Given the description of an element on the screen output the (x, y) to click on. 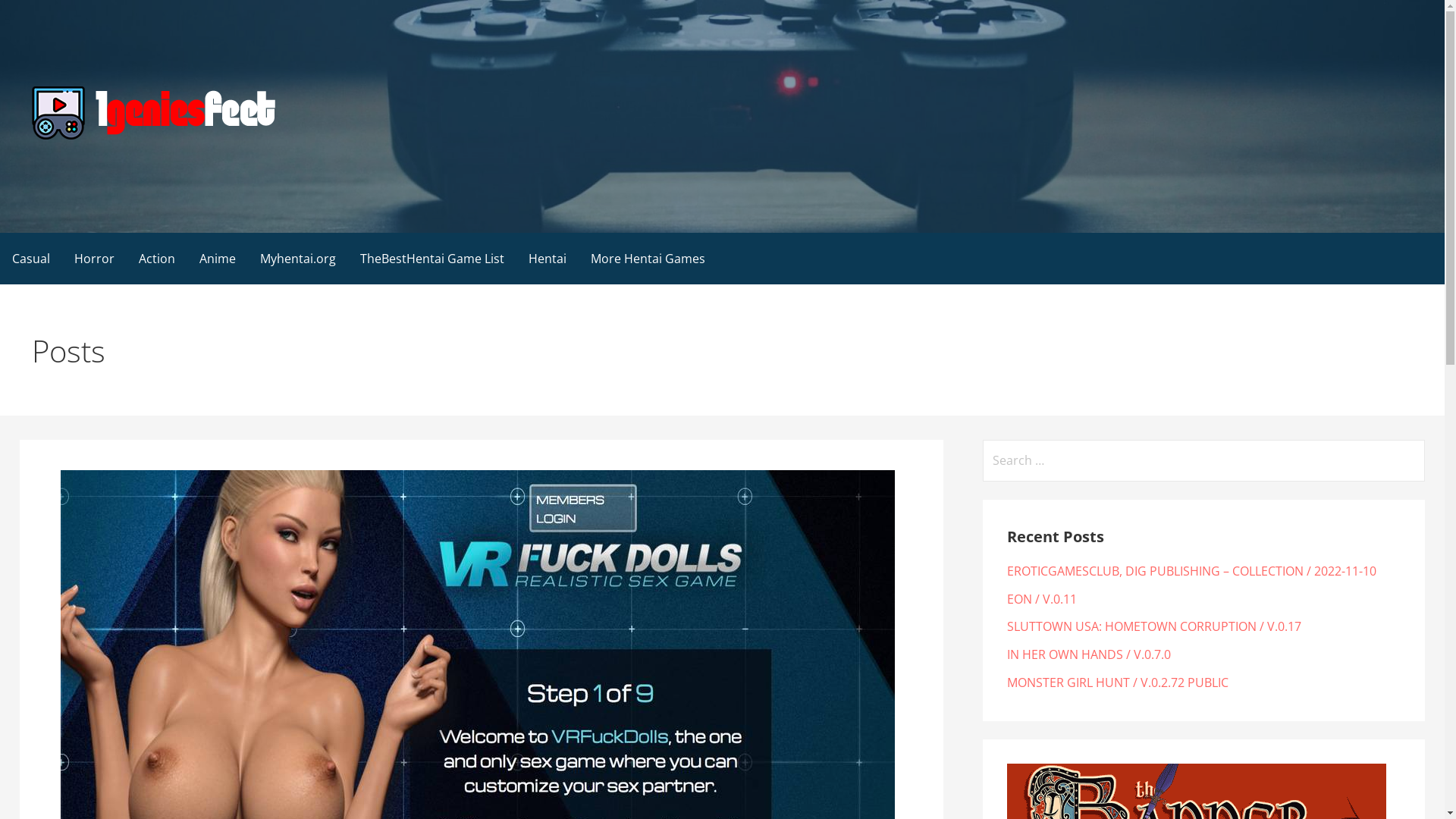
Action Element type: text (156, 257)
MONSTER GIRL HUNT / V.0.2.72 PUBLIC Element type: text (1117, 682)
Casual Element type: text (31, 257)
Search Element type: text (31, 15)
Collection XXX Games on PC - 1geniesfeet.com Element type: text (292, 164)
Anime Element type: text (217, 257)
Hentai Element type: text (547, 257)
IN HER OWN HANDS / V.0.7.0 Element type: text (1088, 654)
Myhentai.org Element type: text (297, 257)
Horror Element type: text (94, 257)
More Hentai Games Element type: text (647, 257)
EON / V.0.11 Element type: text (1041, 598)
TheBestHentai Game List Element type: text (432, 257)
SLUTTOWN USA: HOMETOWN CORRUPTION / V.0.17 Element type: text (1154, 626)
